Given the description of an element on the screen output the (x, y) to click on. 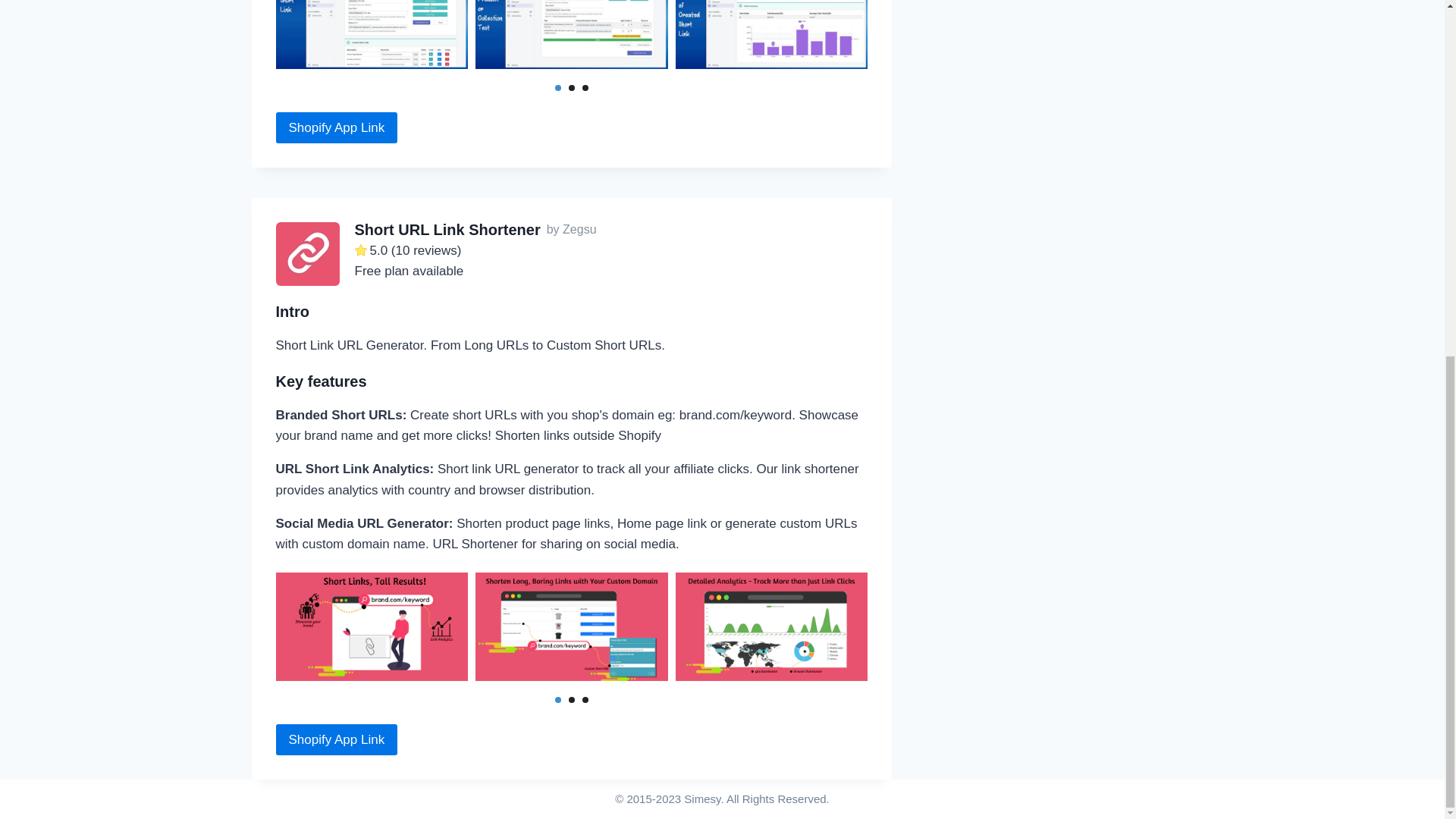
3 (585, 699)
1 (557, 87)
Custom URL Short Link  (372, 626)
Track Revenue from Short link (771, 34)
3 (585, 87)
2 (572, 699)
Detailed Link shortener analytics (771, 626)
Short URL Link Shortener (447, 229)
Custom short url generator (572, 626)
1 (557, 699)
Create Short link - Short url (372, 34)
Shopify App Link (336, 739)
2 (572, 87)
Shopify App Link (336, 127)
Split Product Test (572, 34)
